Given the description of an element on the screen output the (x, y) to click on. 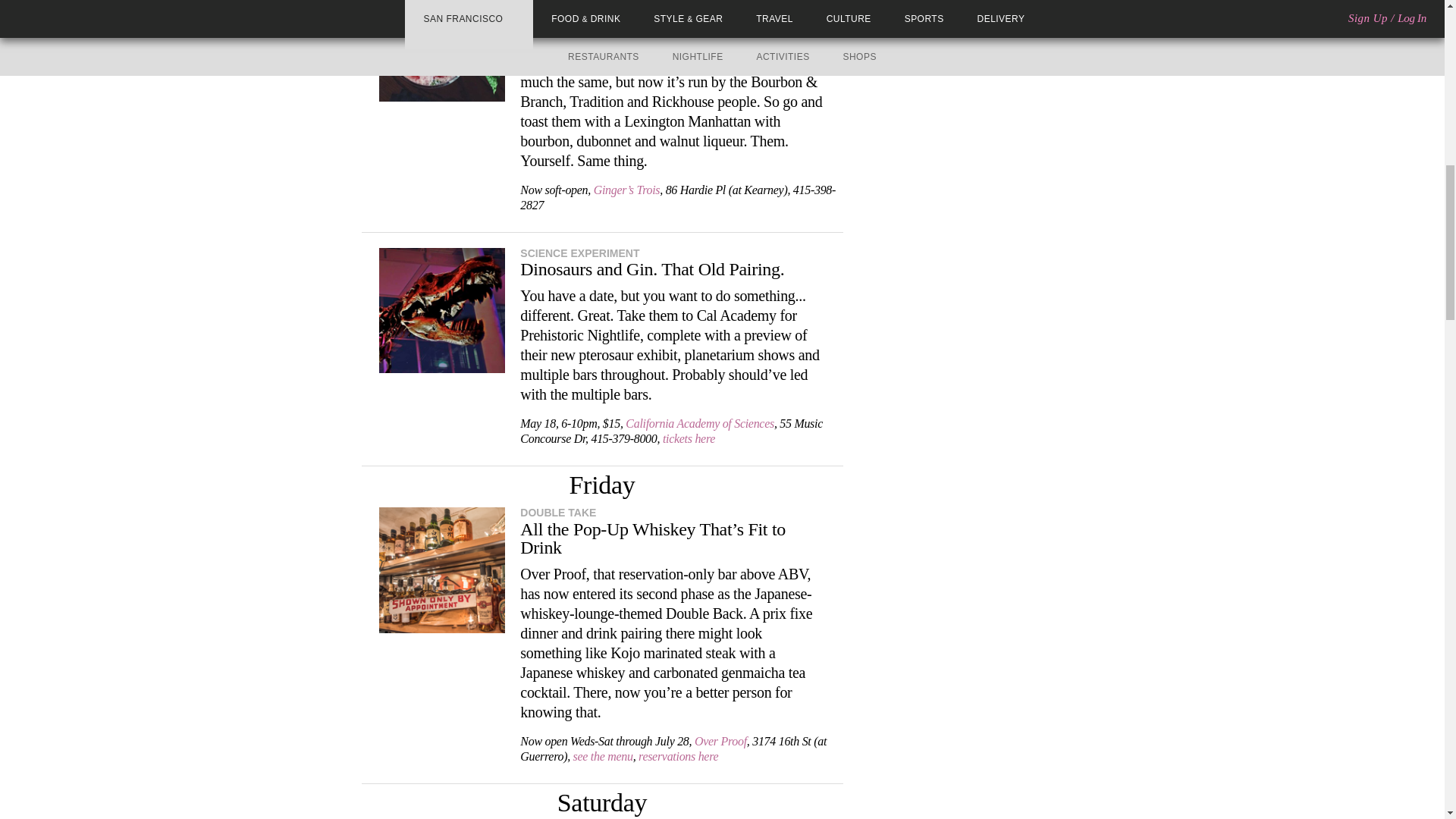
tickets here (688, 438)
see the menu (603, 756)
California Academy of Sciences (700, 422)
Over Proof (720, 740)
